Given the description of an element on the screen output the (x, y) to click on. 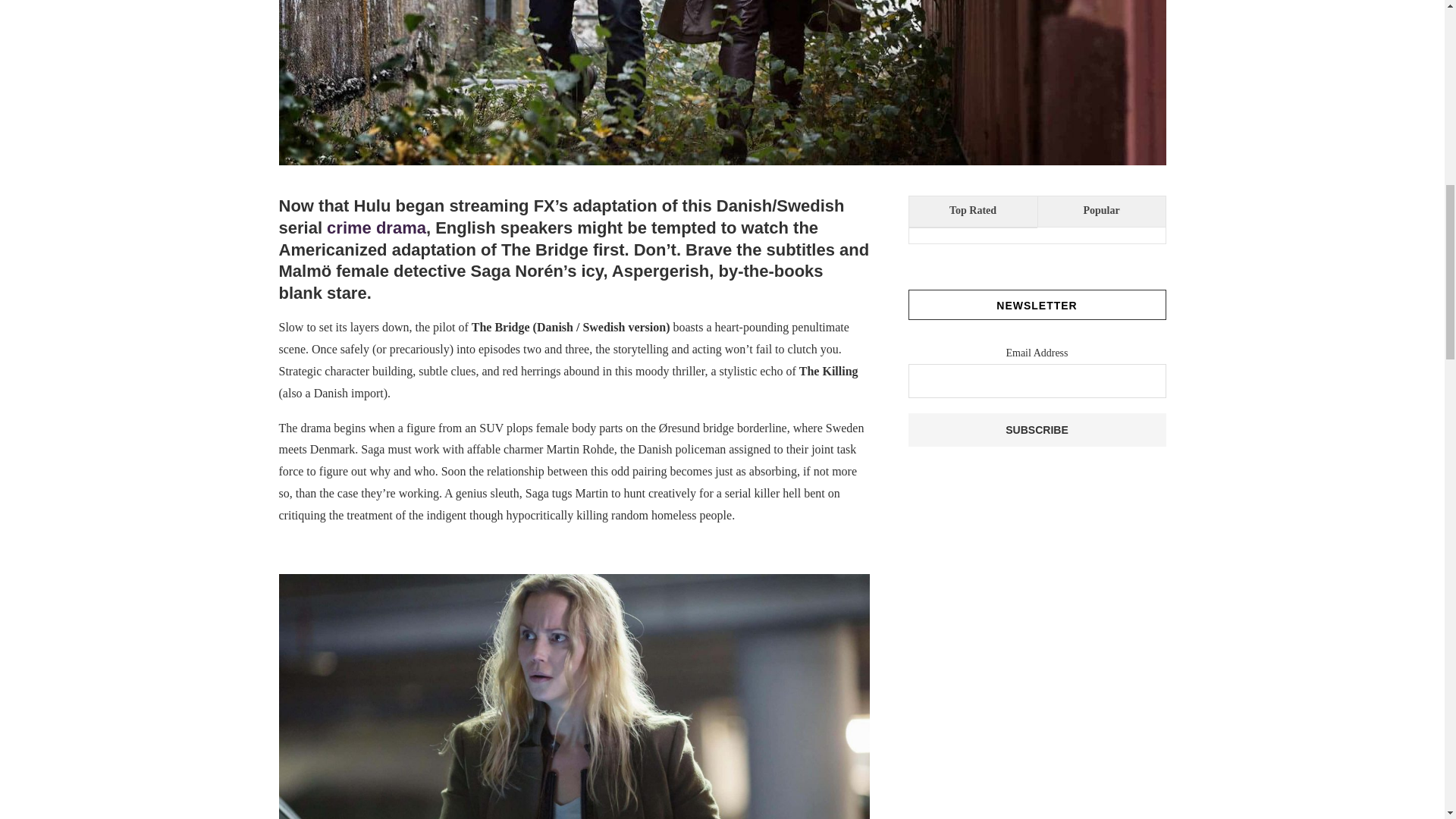
crime drama (376, 227)
Subscribe (1037, 429)
